Given the description of an element on the screen output the (x, y) to click on. 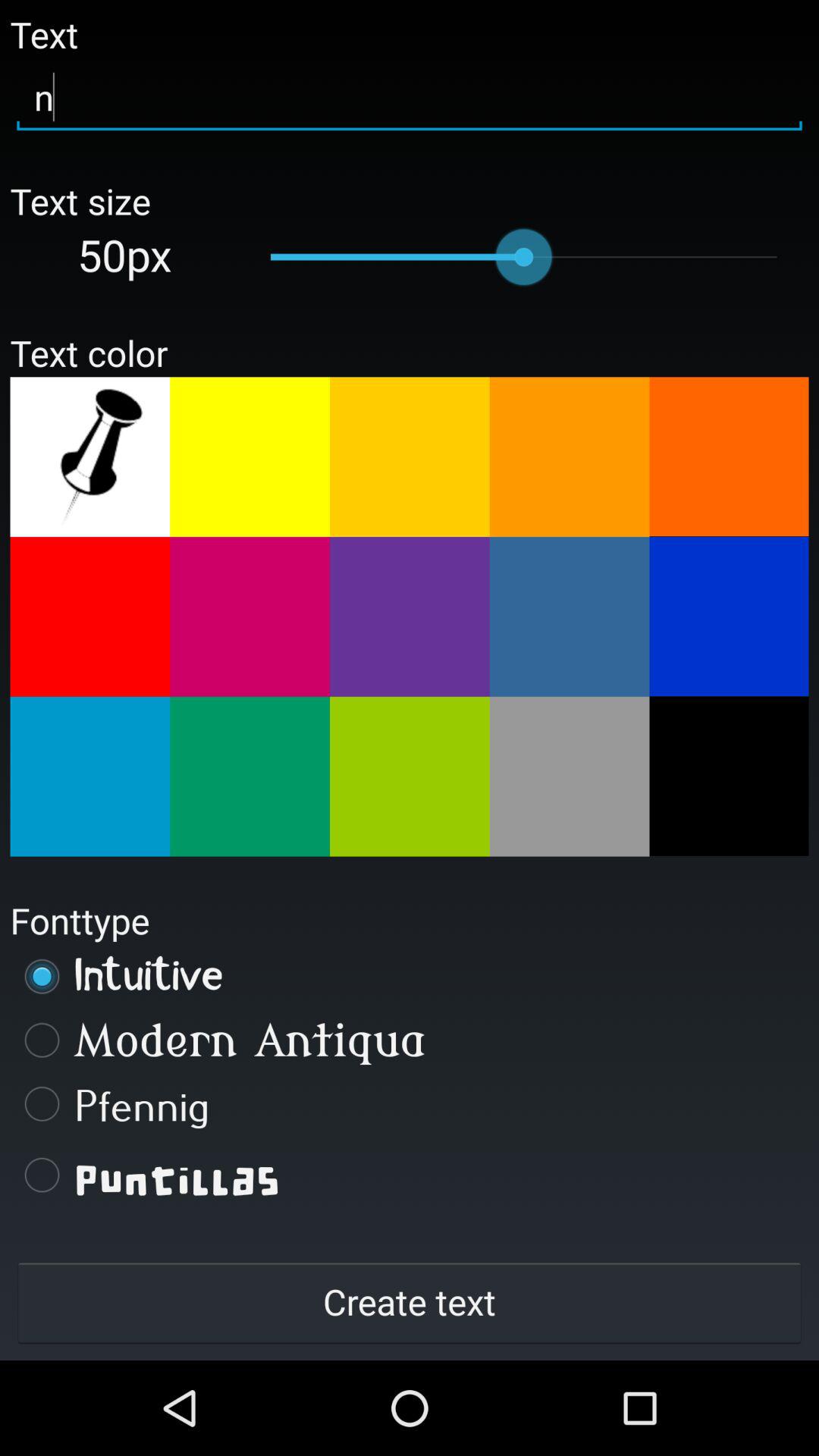
select item (409, 776)
